Given the description of an element on the screen output the (x, y) to click on. 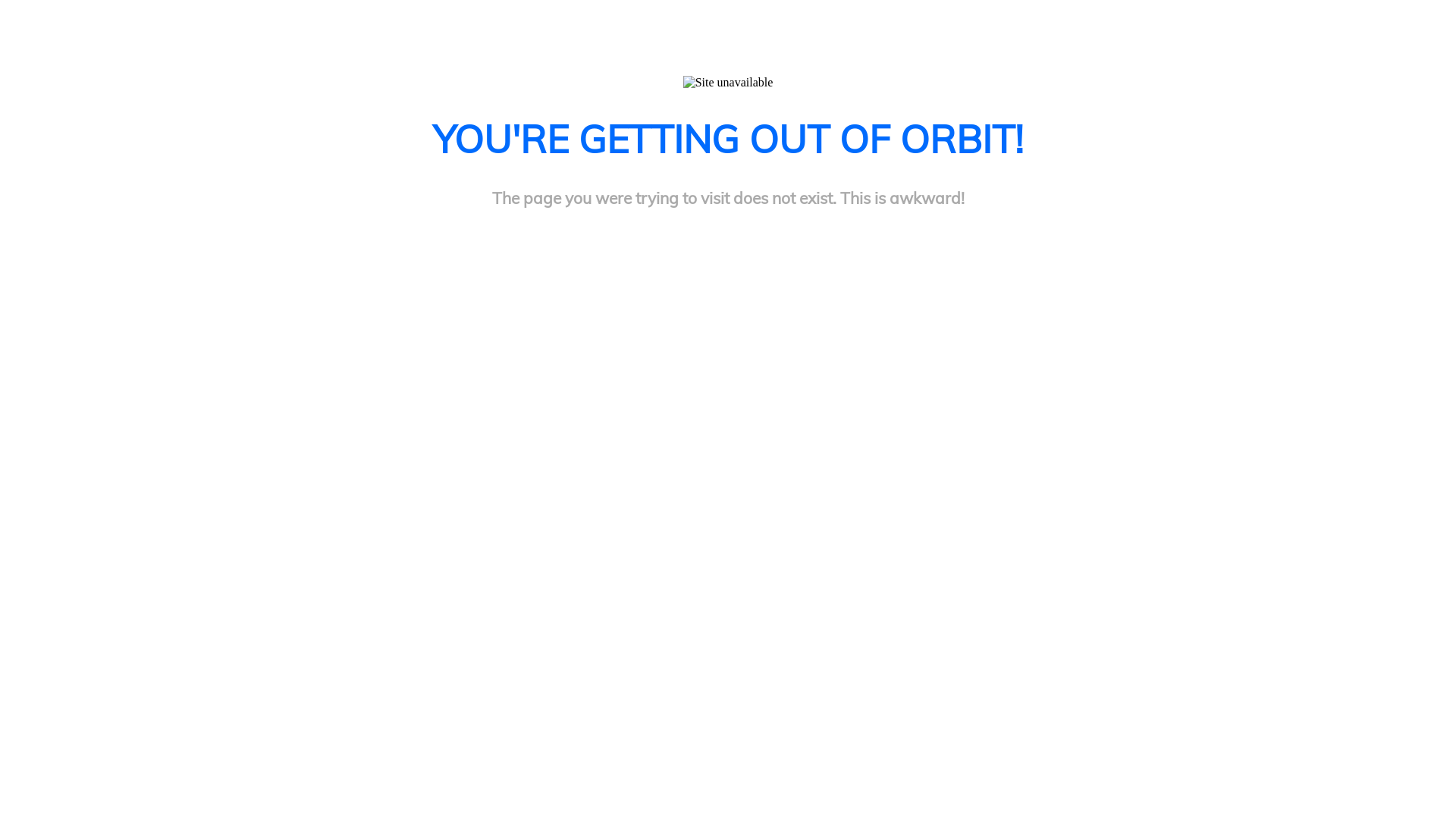
Site unavailable Element type: hover (728, 82)
